Given the description of an element on the screen output the (x, y) to click on. 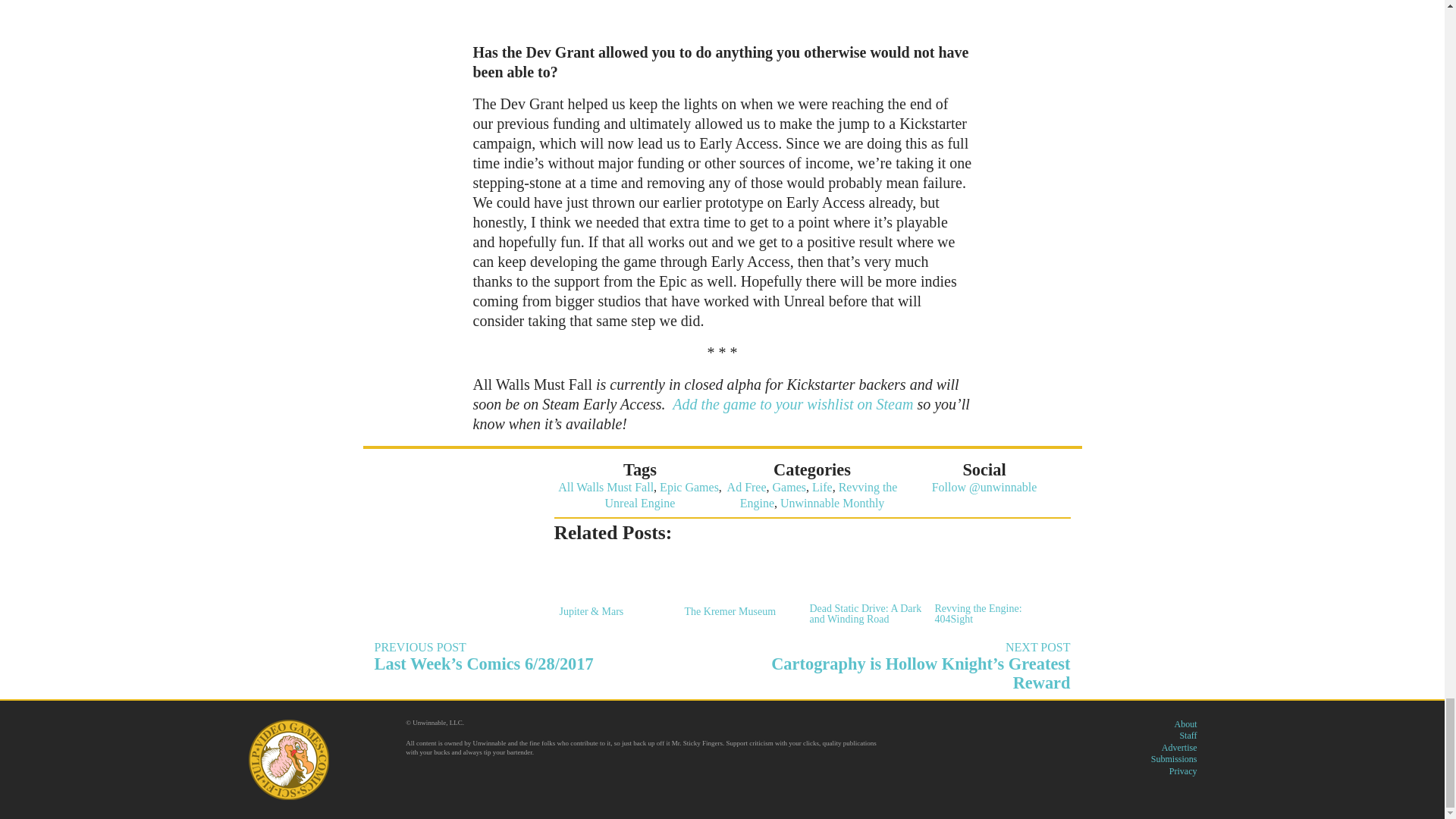
Unwinnable Monthly (831, 502)
Advertise (1178, 747)
All Walls Must Fall (605, 486)
Life (822, 486)
Add the game to your wishlist on Steam (792, 403)
Revving the Engine: 404Sight (989, 588)
Games (789, 486)
Unreal Engine (640, 502)
About (1184, 724)
Epic Games (689, 486)
Revving the Engine: 404Sight (989, 588)
The Kremer Museum (738, 584)
The Kremer Museum (738, 584)
Staff (1187, 735)
Dead Static Drive: A Dark and Winding Road (862, 588)
